Given the description of an element on the screen output the (x, y) to click on. 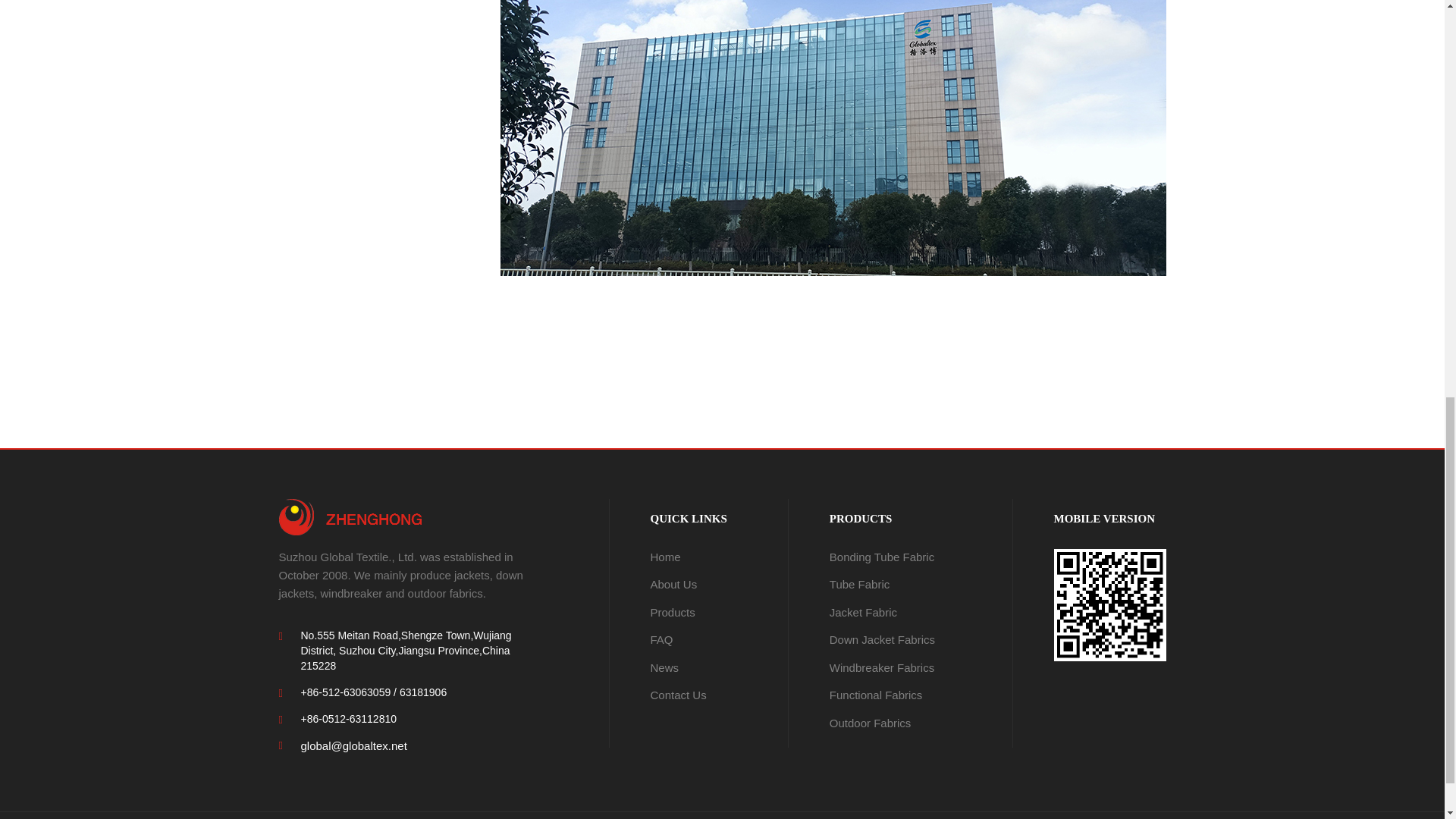
FAQ (661, 639)
About Us (673, 584)
Products (672, 612)
Home (665, 556)
